Given the description of an element on the screen output the (x, y) to click on. 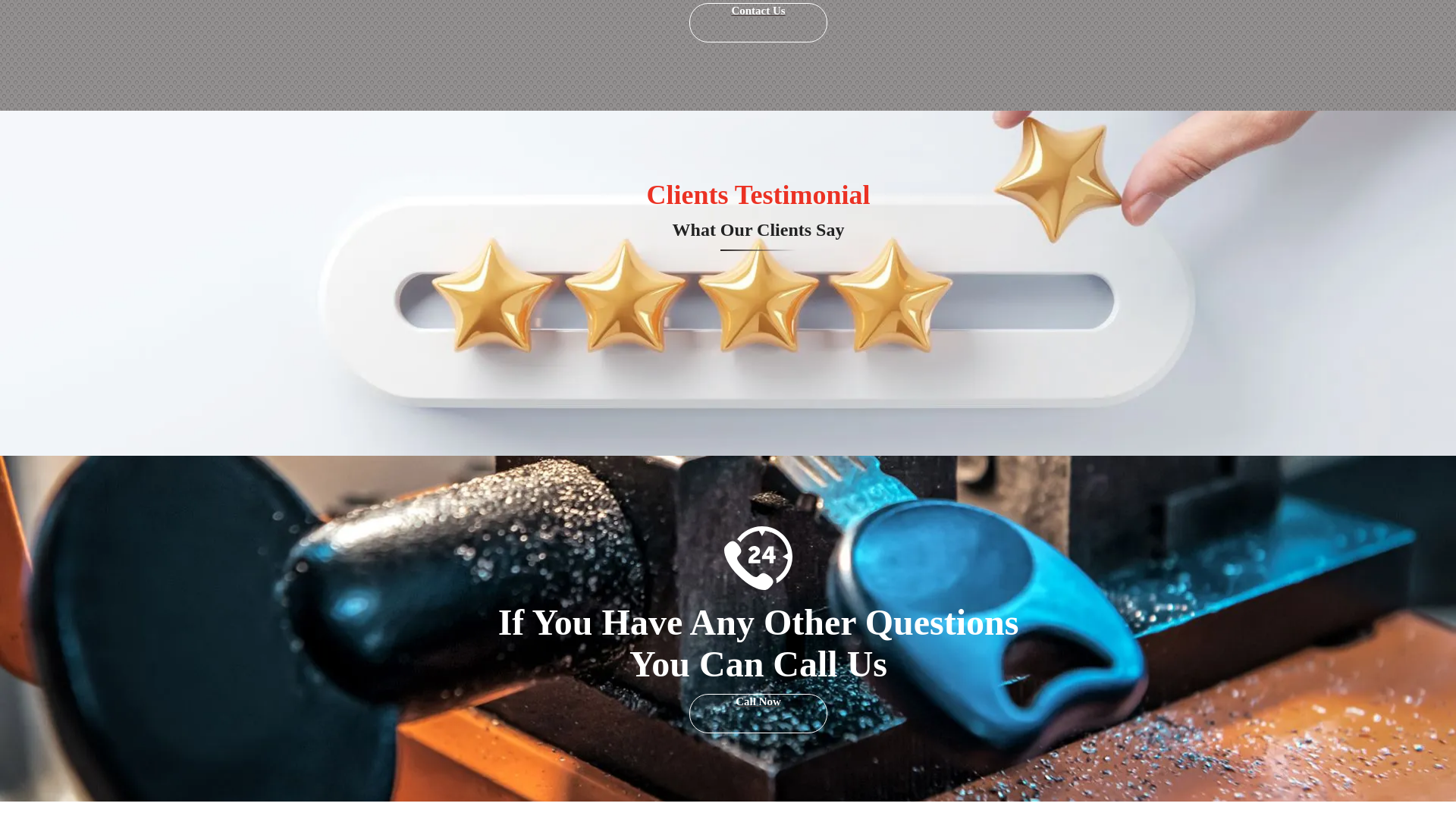
24hrs Phone Service (757, 558)
